Given the description of an element on the screen output the (x, y) to click on. 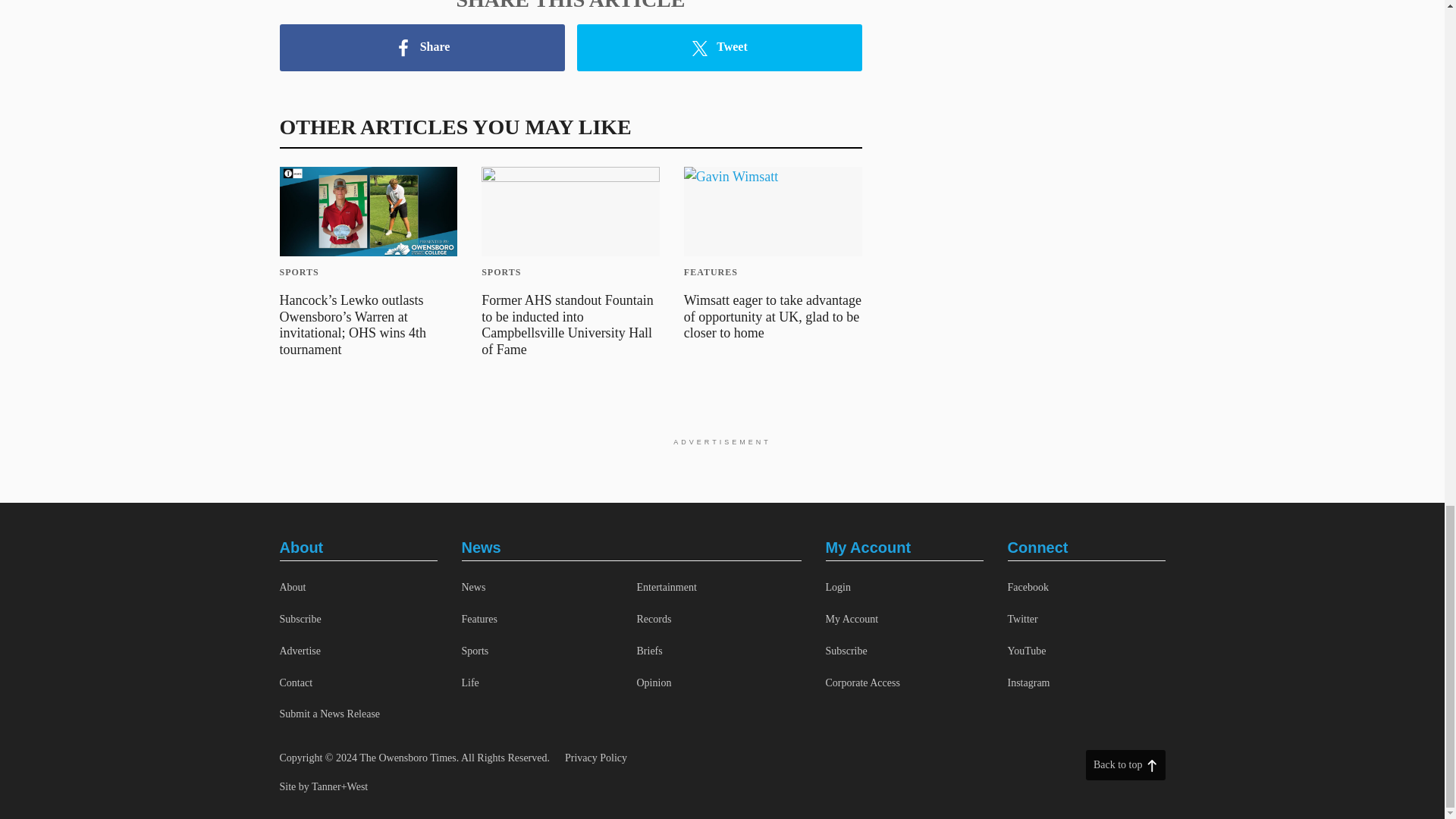
Share on Facebook (421, 47)
Share on Twitter (718, 47)
